Given the description of an element on the screen output the (x, y) to click on. 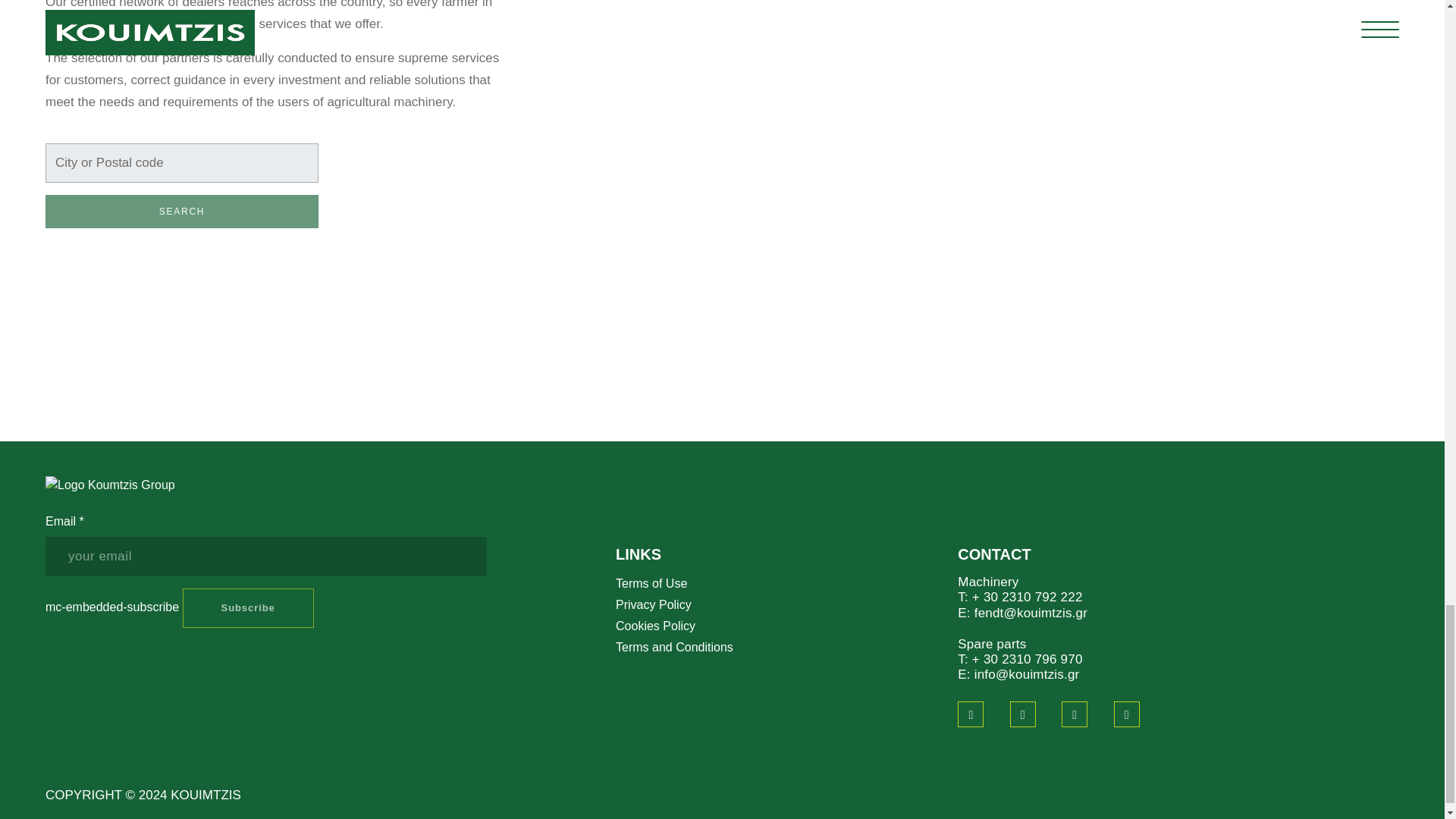
Subscribe (248, 608)
Subscribe (248, 608)
SEARCH (181, 211)
Privacy Policy (653, 604)
Cookies Policy (655, 625)
Terms of Use (651, 583)
Terms and Conditions (674, 646)
